Given the description of an element on the screen output the (x, y) to click on. 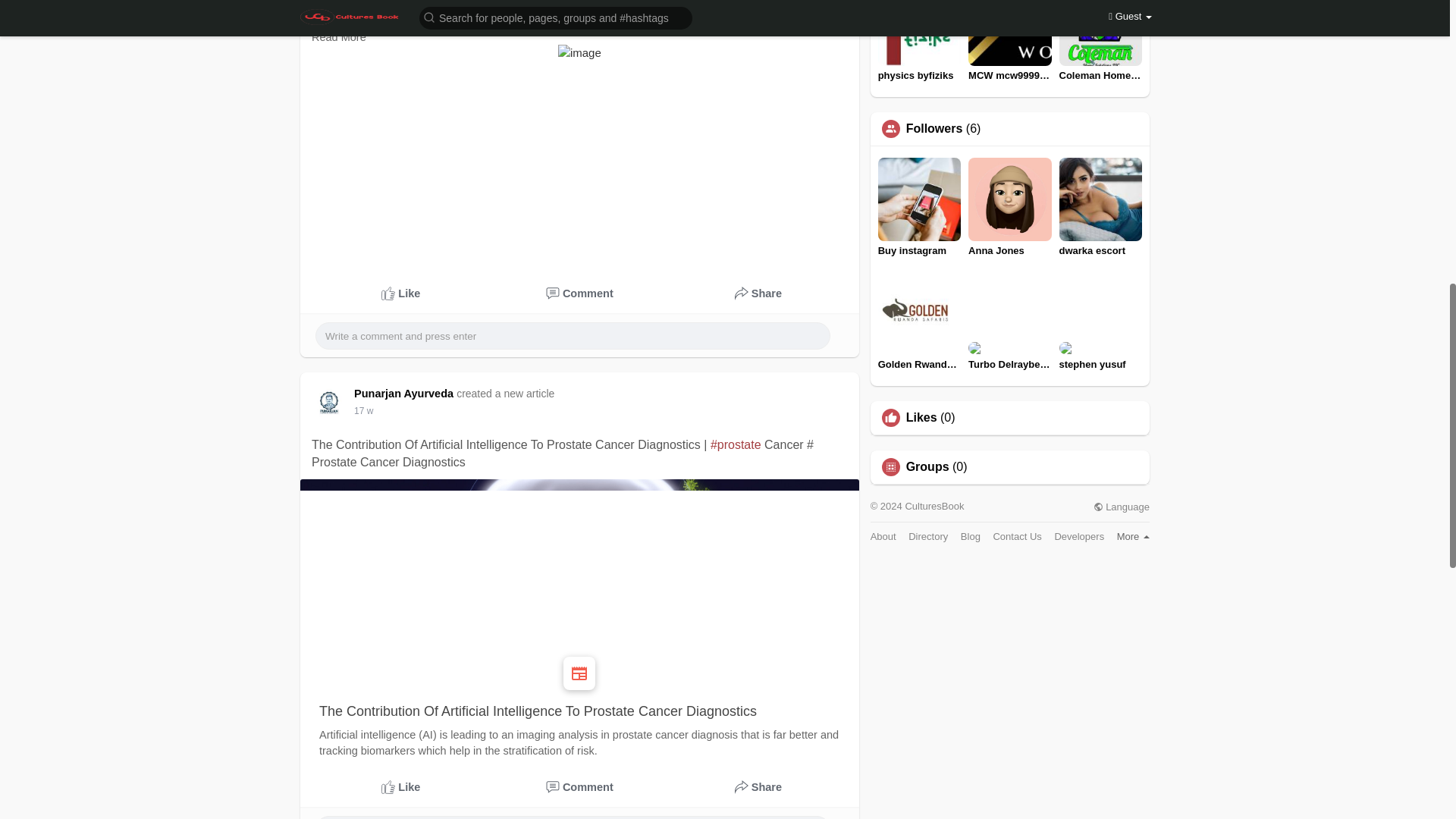
17 w (362, 410)
Read More (338, 37)
Punarjan Ayurveda (405, 393)
Comments (579, 293)
Comments (579, 786)
physics byfiziks (918, 40)
17 w (362, 410)
Share (757, 786)
Share (757, 293)
